Given the description of an element on the screen output the (x, y) to click on. 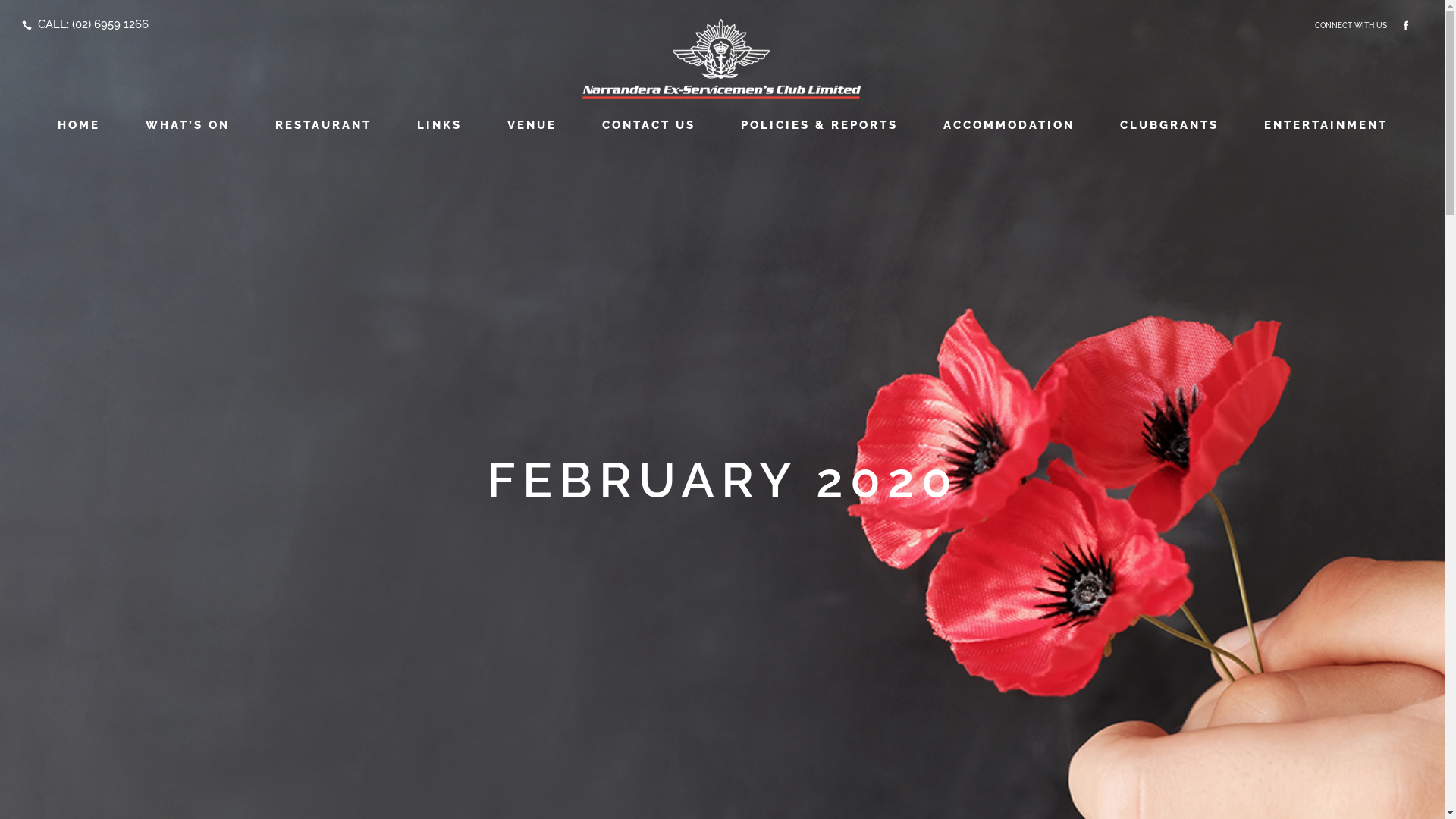
POLICIES & REPORTS Element type: text (818, 124)
CLUBGRANTS Element type: text (1168, 124)
ENTERTAINMENT Element type: text (1324, 124)
ACCOMMODATION Element type: text (1008, 124)
HOME Element type: text (78, 124)
RESTAURANT Element type: text (322, 124)
VENUE Element type: text (530, 124)
CONTACT US Element type: text (648, 124)
LINKS Element type: text (439, 124)
